Given the description of an element on the screen output the (x, y) to click on. 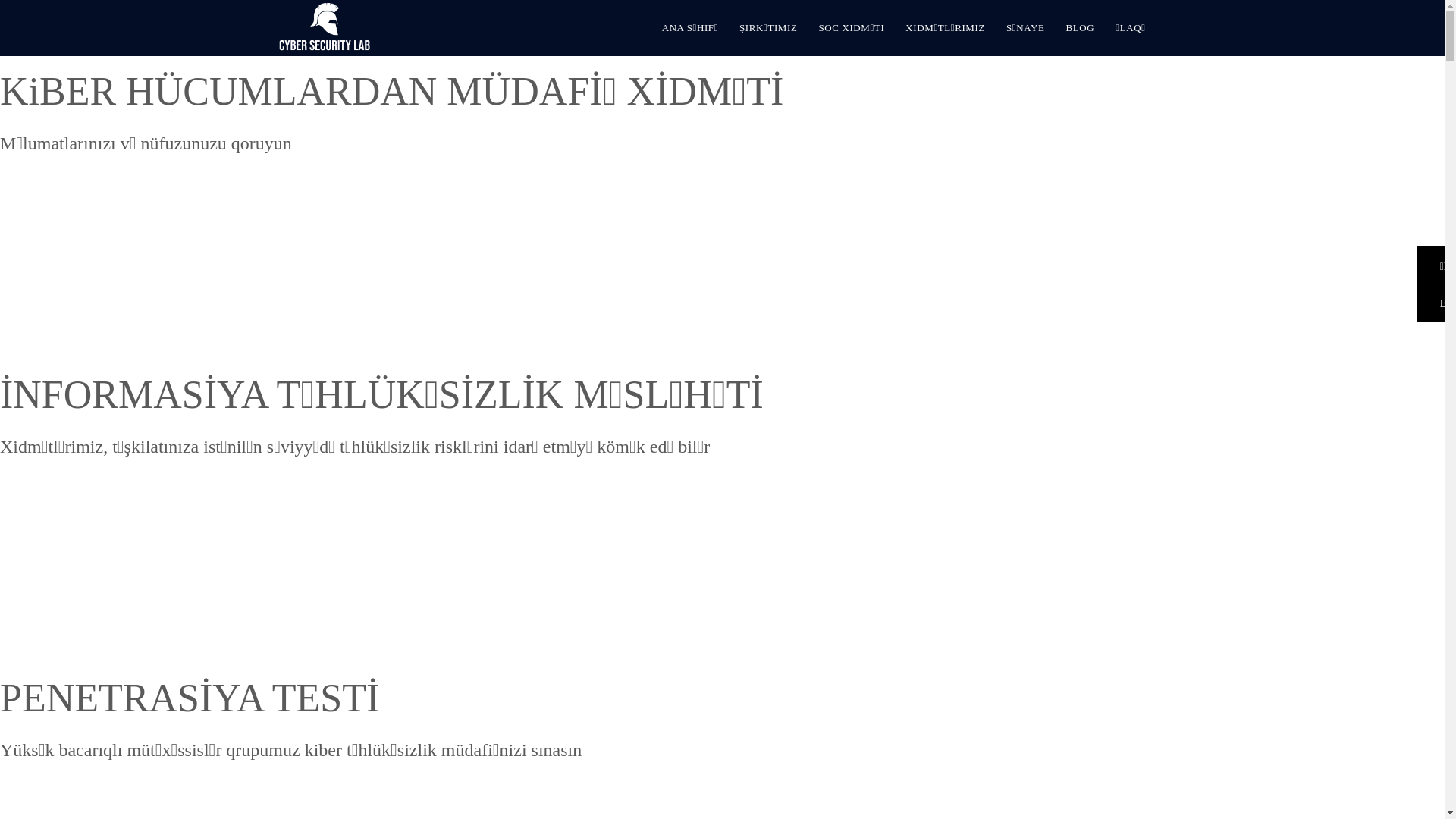
BLOG Element type: text (1079, 28)
